Given the description of an element on the screen output the (x, y) to click on. 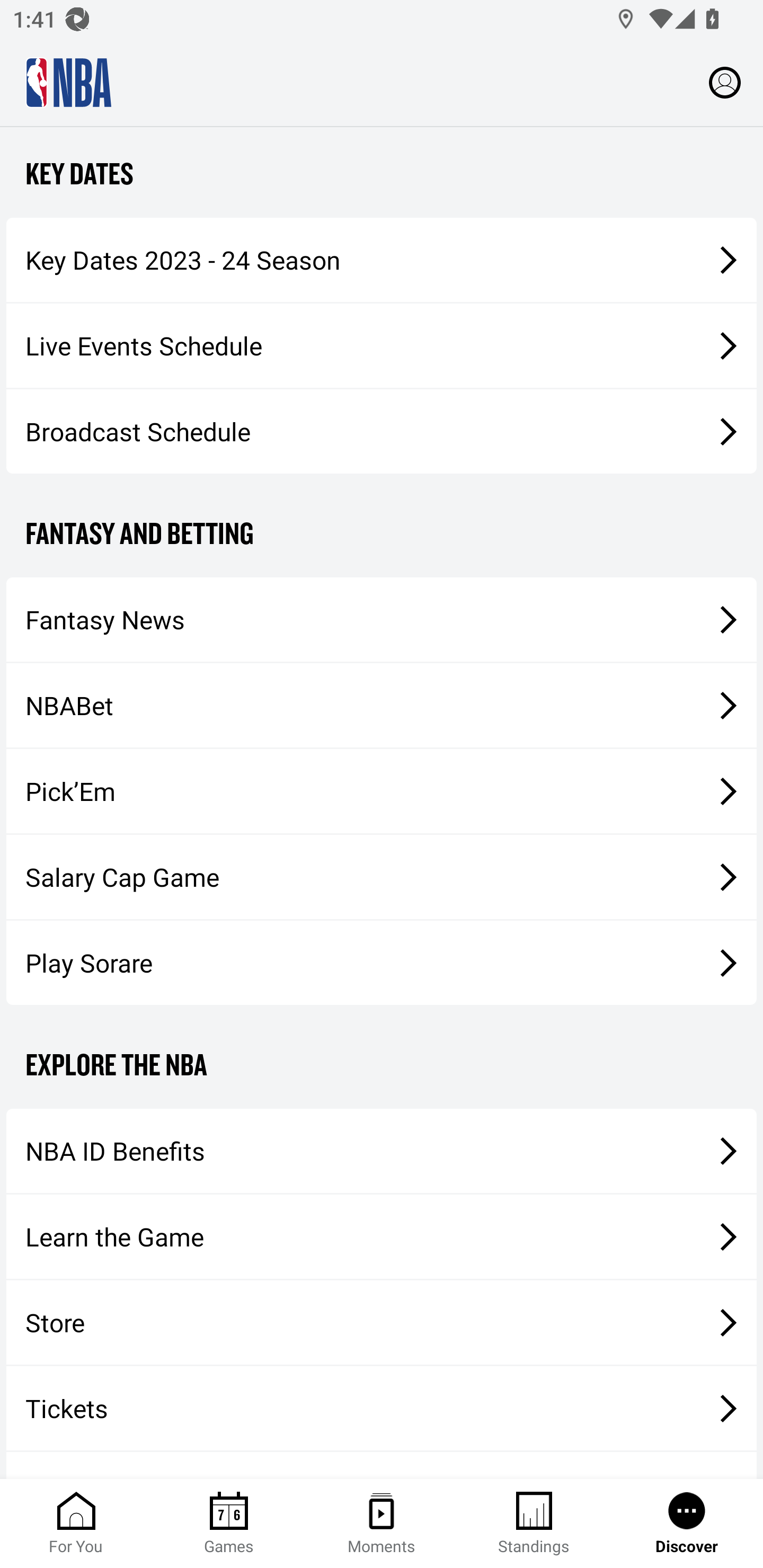
Profile (724, 81)
Key Dates 2023 - 24 Season (381, 259)
Live Events Schedule (381, 345)
Broadcast Schedule (381, 430)
Fantasy News (381, 619)
NBABet (381, 705)
Pick’Em (381, 790)
Salary Cap Game (381, 876)
Play Sorare (381, 962)
NBA ID Benefits (381, 1150)
Learn the Game (381, 1236)
Store (381, 1322)
Tickets (381, 1407)
For You (76, 1523)
Games (228, 1523)
Moments (381, 1523)
Standings (533, 1523)
